Given the description of an element on the screen output the (x, y) to click on. 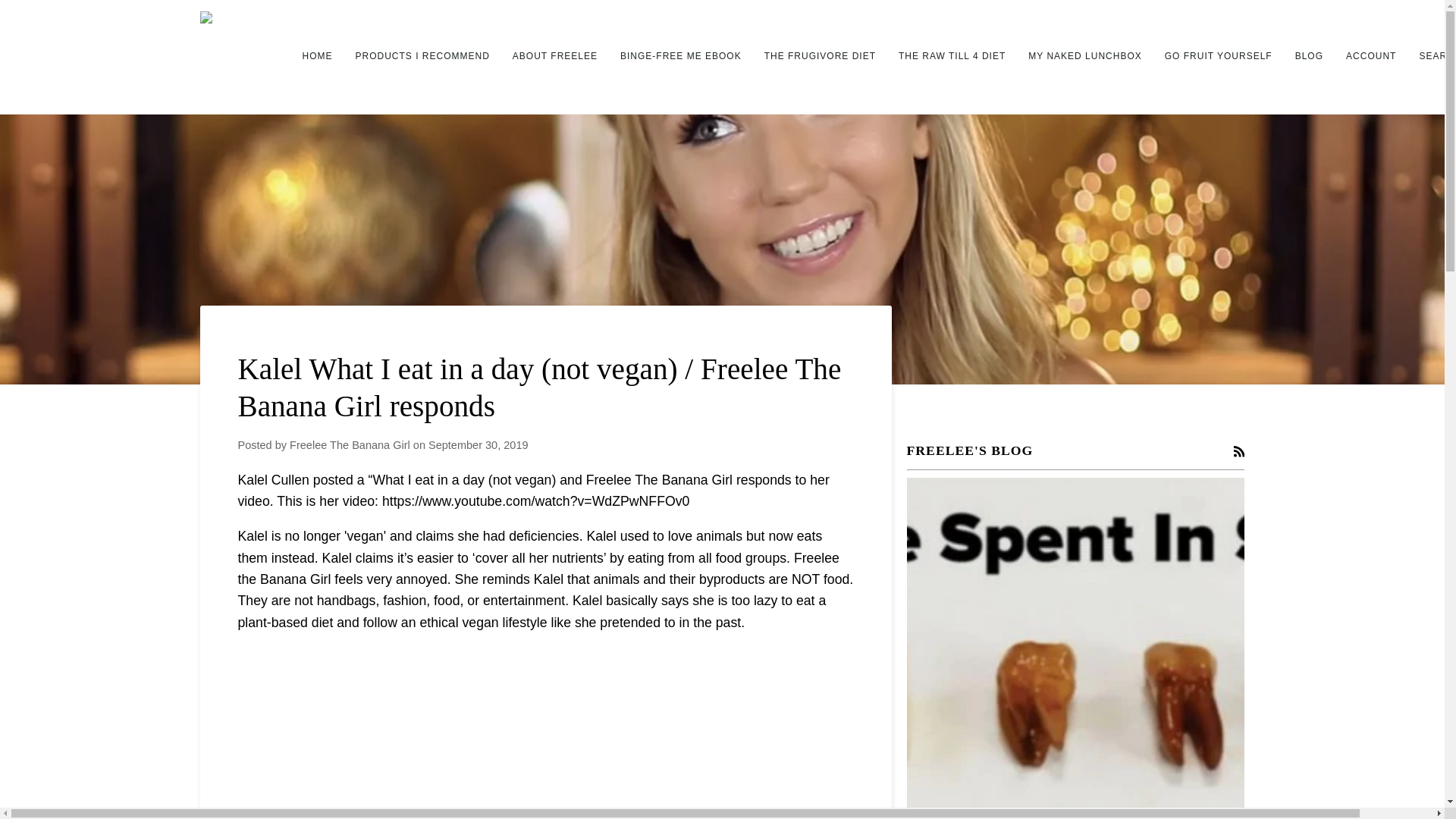
PRODUCTS I RECOMMEND (421, 56)
BINGE-FREE ME EBOOK (680, 56)
MY NAKED LUNCHBOX (1084, 56)
GO FRUIT YOURSELF (1218, 56)
THE FRUGIVORE DIET (819, 56)
ABOUT FREELEE (554, 56)
THE RAW TILL 4 DIET (951, 56)
